Given the description of an element on the screen output the (x, y) to click on. 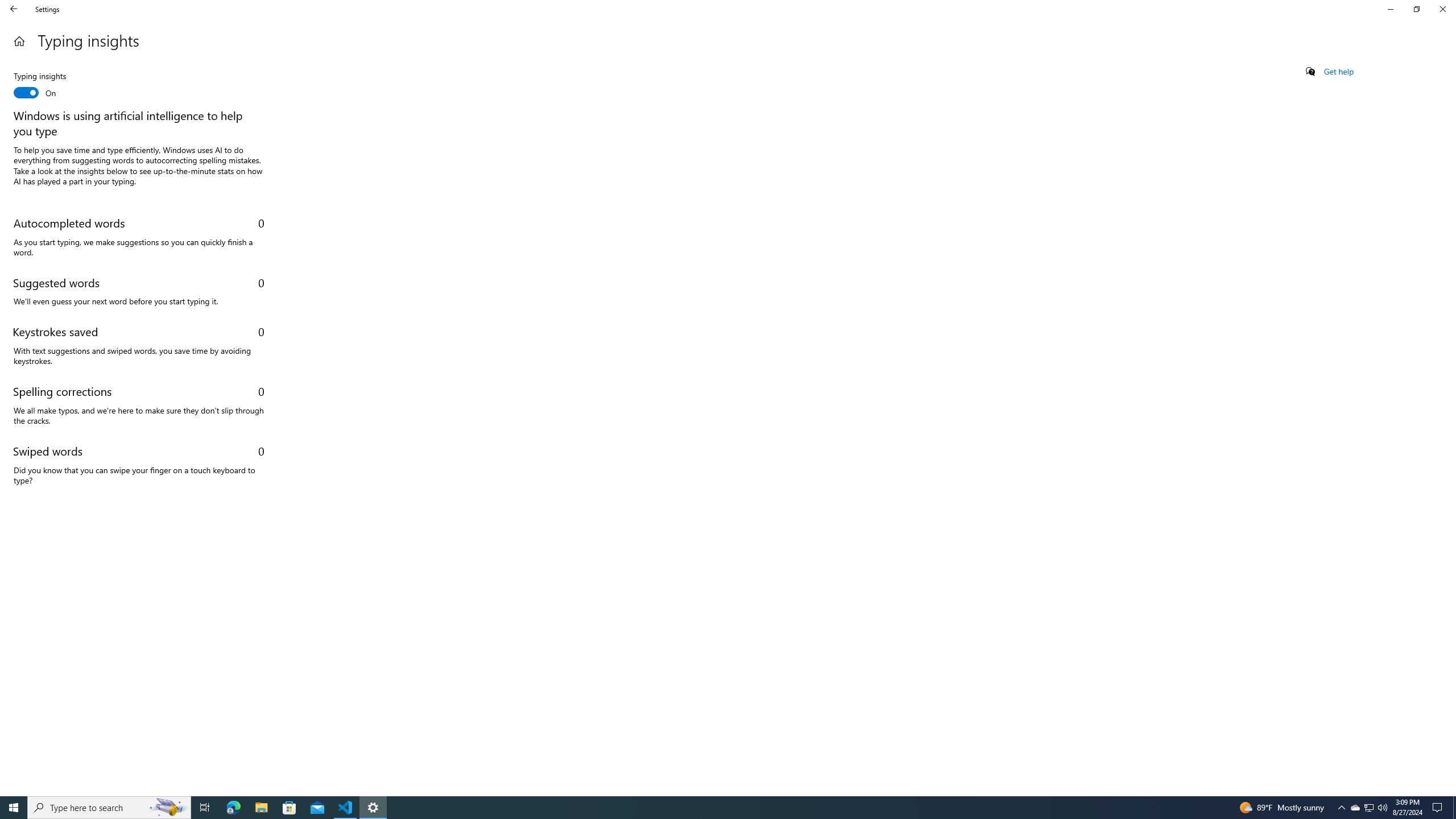
Minimize Settings (1390, 9)
Back (13, 9)
Settings - 1 running window (373, 807)
Get help (1338, 71)
Running applications (717, 807)
Restore Settings (1416, 9)
